Given the description of an element on the screen output the (x, y) to click on. 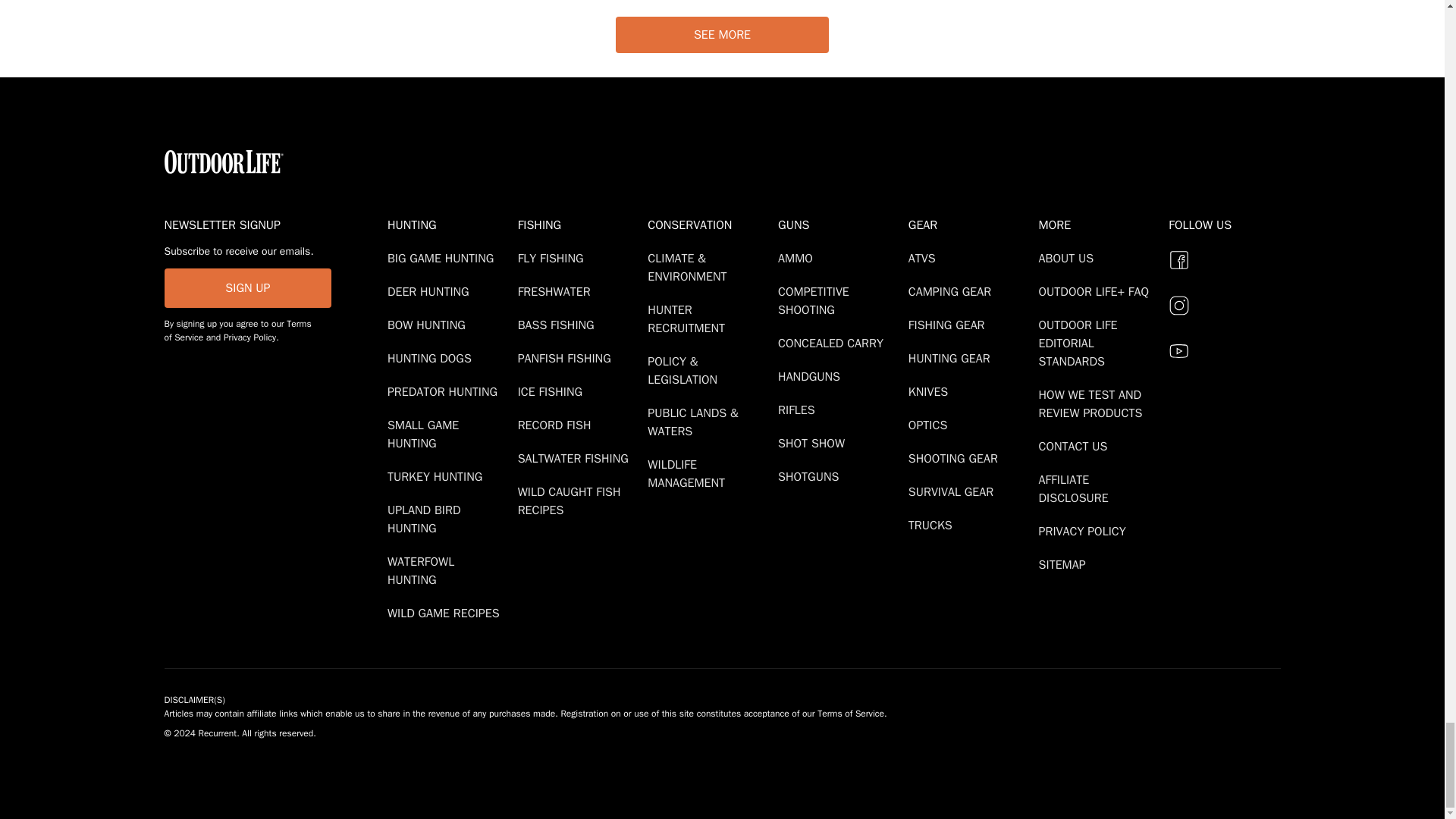
Deer Hunting (431, 291)
Big Game Hunting (443, 258)
Conservation (709, 225)
Fly Fishing (553, 258)
Hunting (449, 225)
Fishing (580, 225)
